Given the description of an element on the screen output the (x, y) to click on. 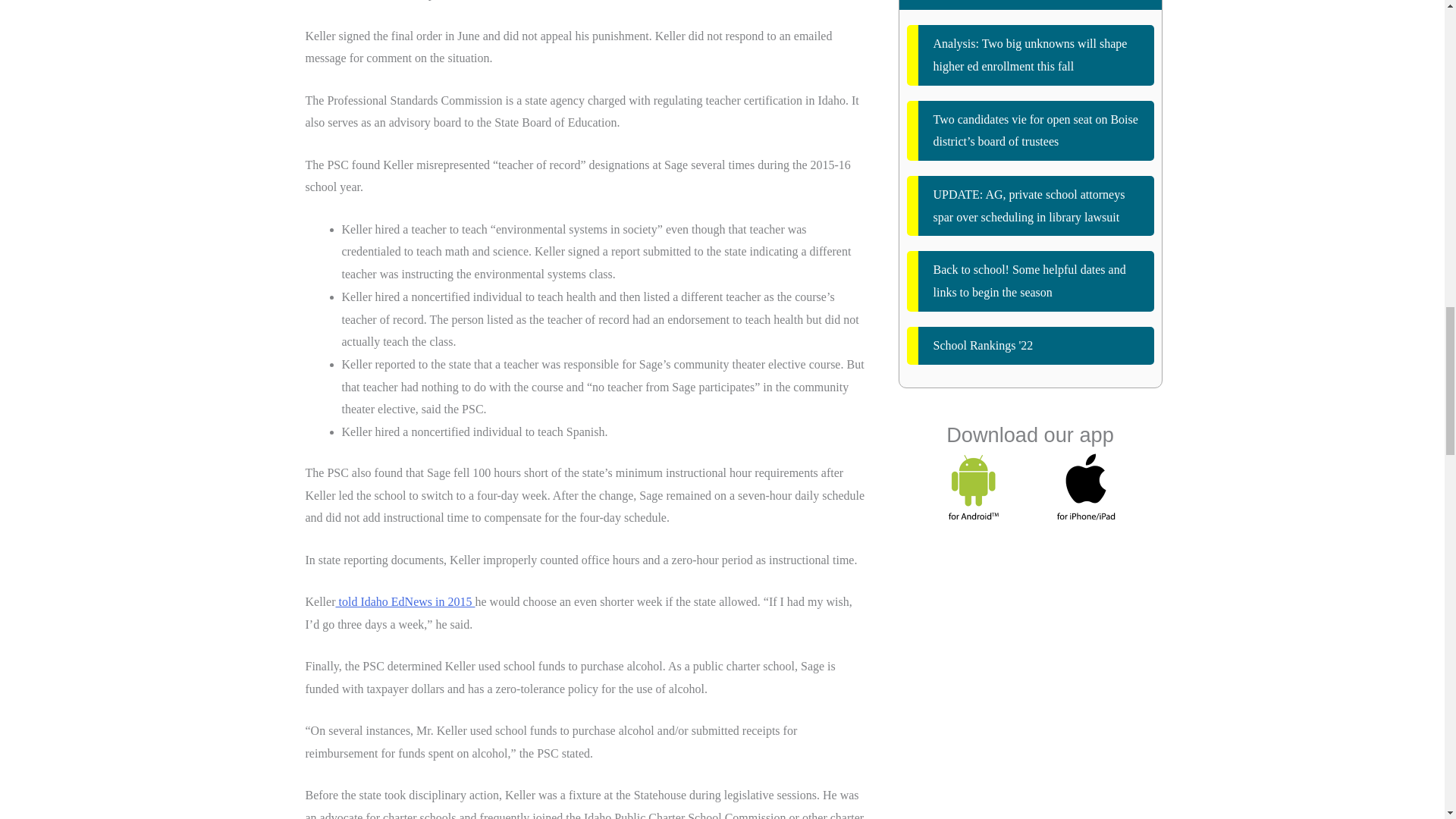
told Idaho EdNews in 2015 (404, 601)
School Rankings '22 (1030, 345)
